Given the description of an element on the screen output the (x, y) to click on. 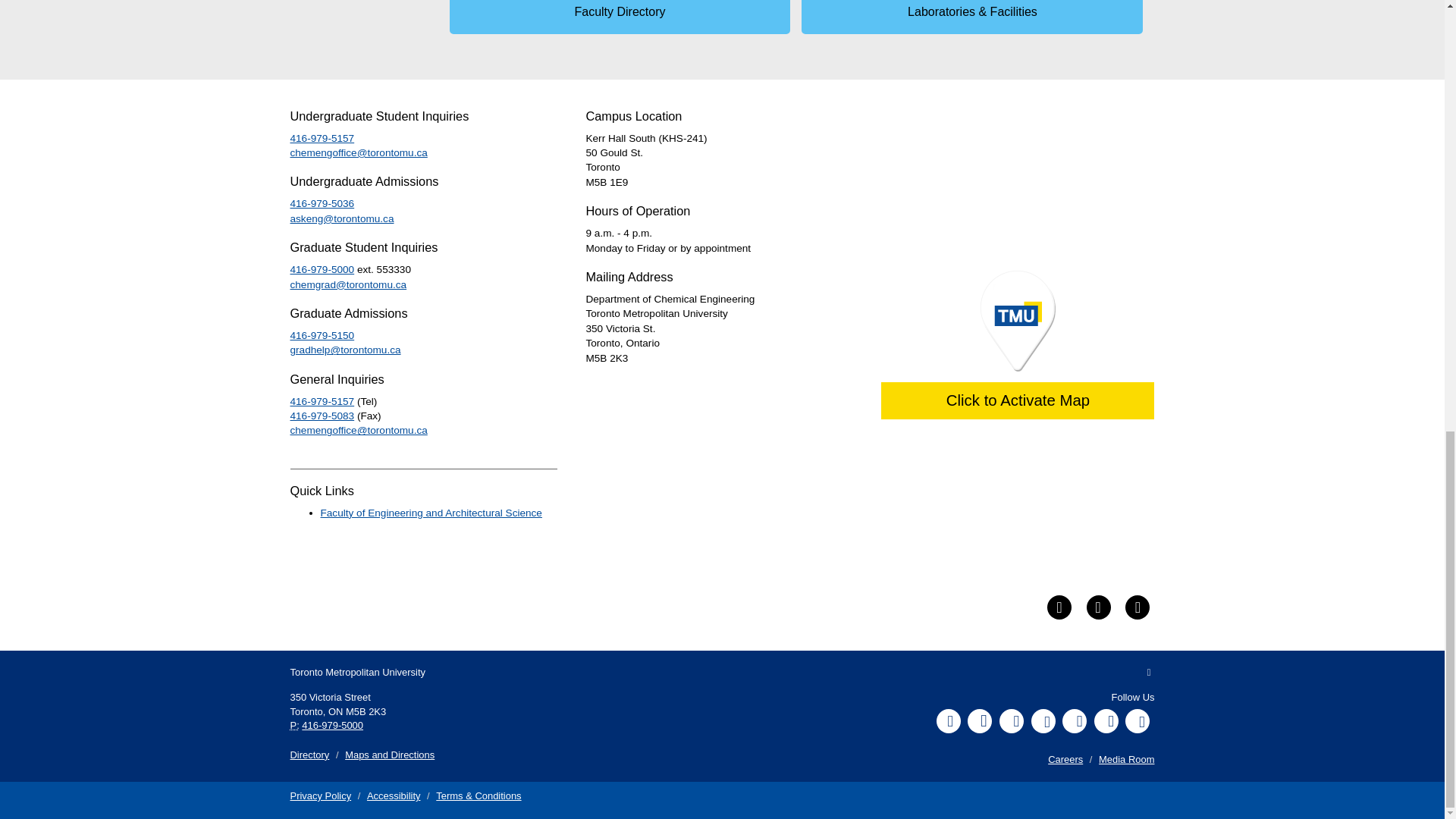
Phone (293, 725)
twitter (1058, 607)
Threads (1137, 721)
LinkedIn (1074, 721)
X (1010, 721)
youtube (1098, 607)
Instagram (979, 721)
instagram (1137, 607)
YouTube (1042, 721)
Facebook (948, 721)
Tiktok (1106, 721)
